Given the description of an element on the screen output the (x, y) to click on. 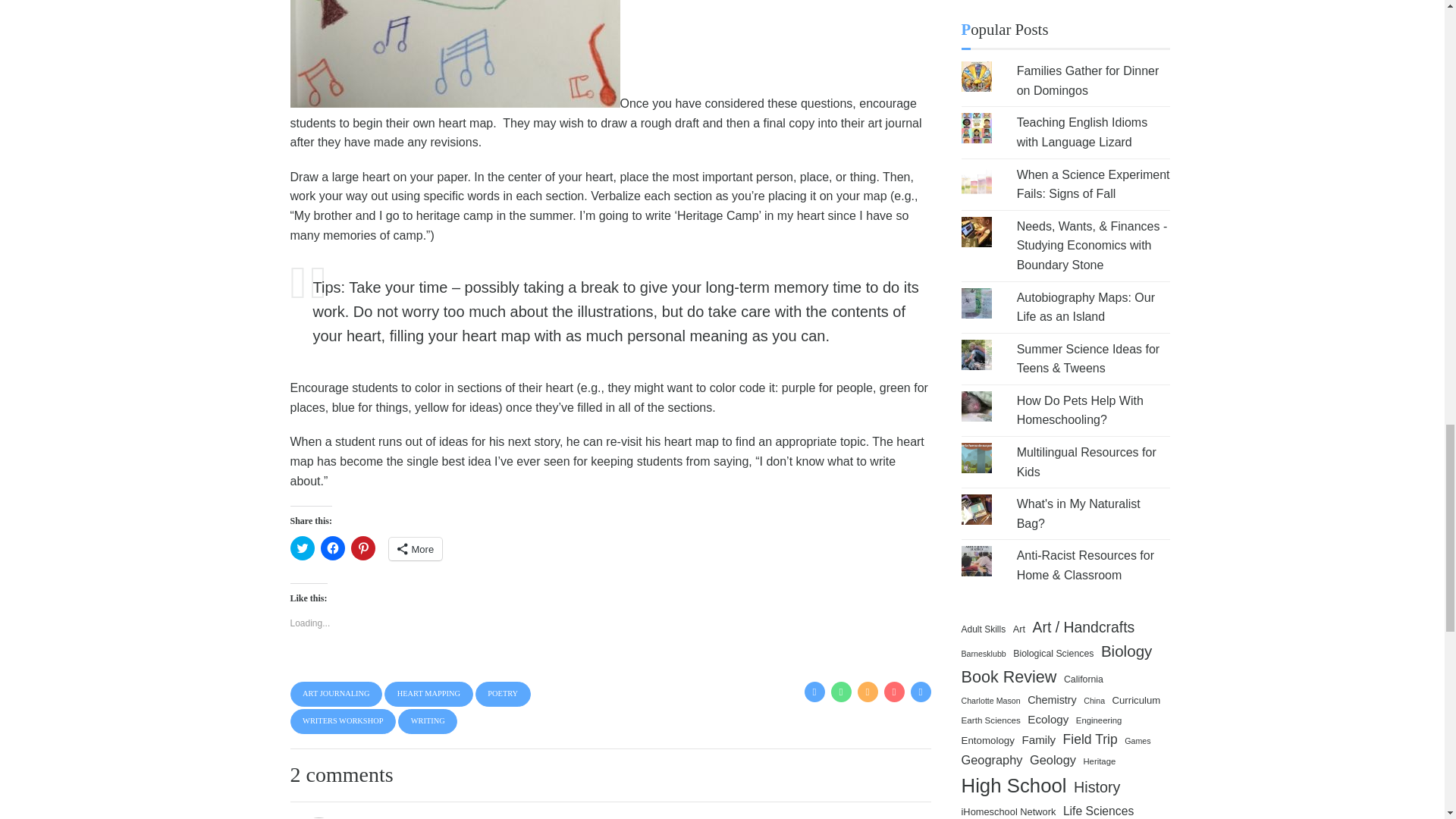
HEART MAPPING (427, 693)
Families Gather for Dinner on Domingos (1087, 80)
Click to share on Twitter (301, 548)
WRITERS WORKSHOP (342, 721)
WRITING (427, 721)
Teaching English Idioms with Language Lizard (1082, 132)
More (415, 548)
POETRY (503, 693)
Click to share on Facebook (331, 548)
Click to share on Pinterest (362, 548)
